Given the description of an element on the screen output the (x, y) to click on. 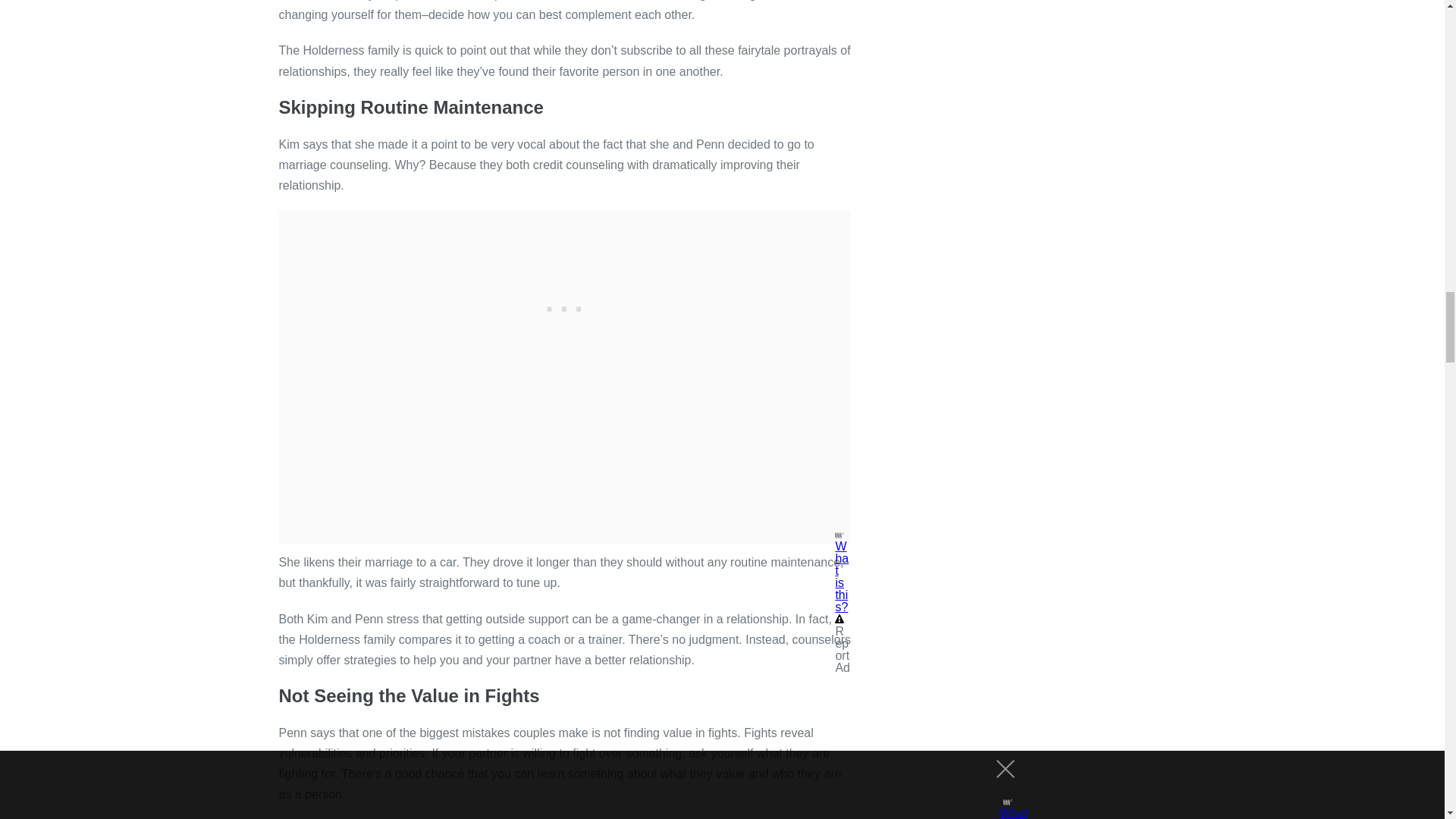
3rd party ad content (564, 305)
